Given the description of an element on the screen output the (x, y) to click on. 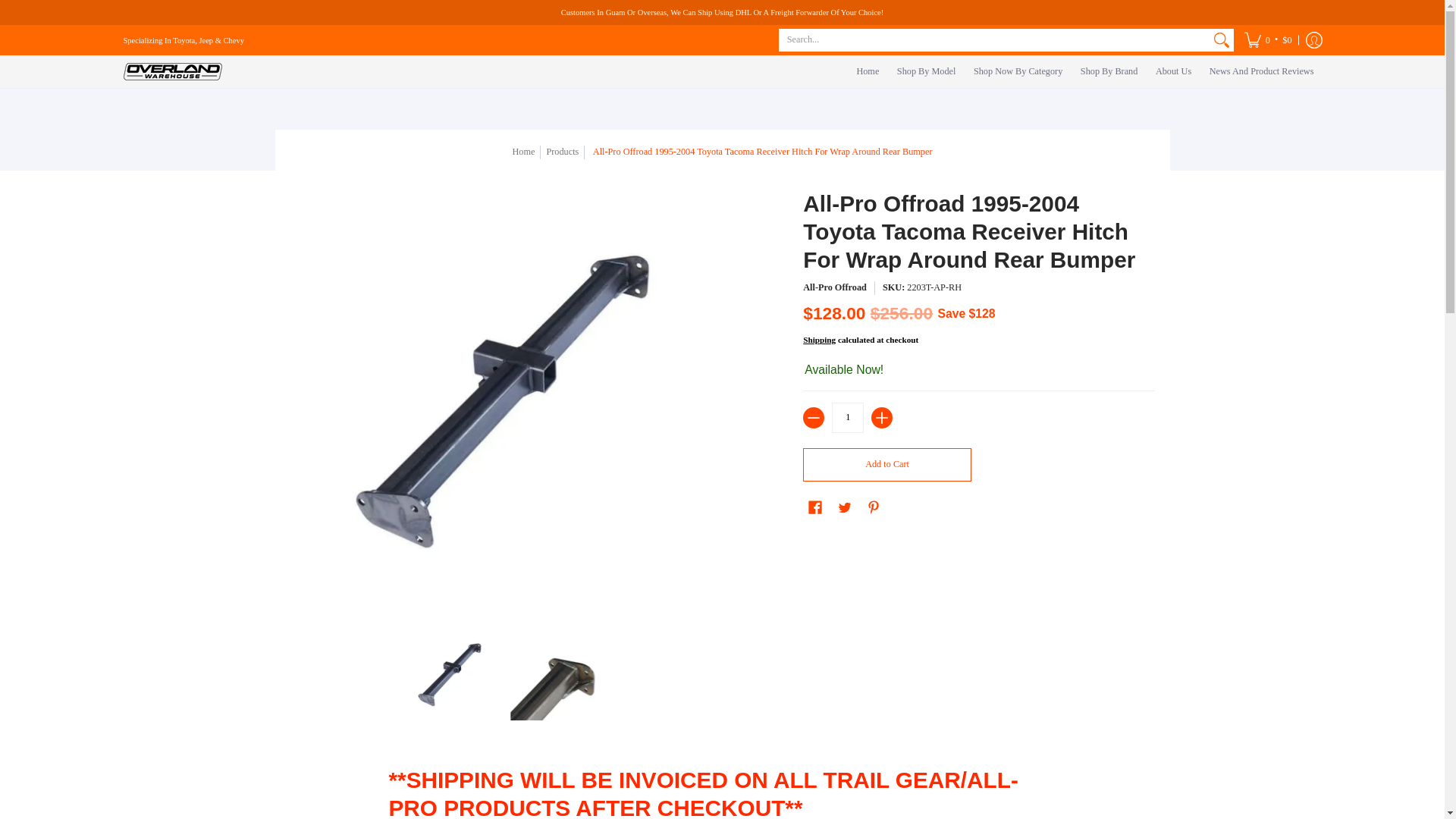
Log in (1312, 40)
Shop Now By Category (1018, 71)
1 (847, 417)
Shop By Model (926, 71)
Home (867, 71)
Shop By Model (926, 71)
Home (867, 71)
Cart (1267, 40)
Overland Warehouse Online (171, 71)
